Given the description of an element on the screen output the (x, y) to click on. 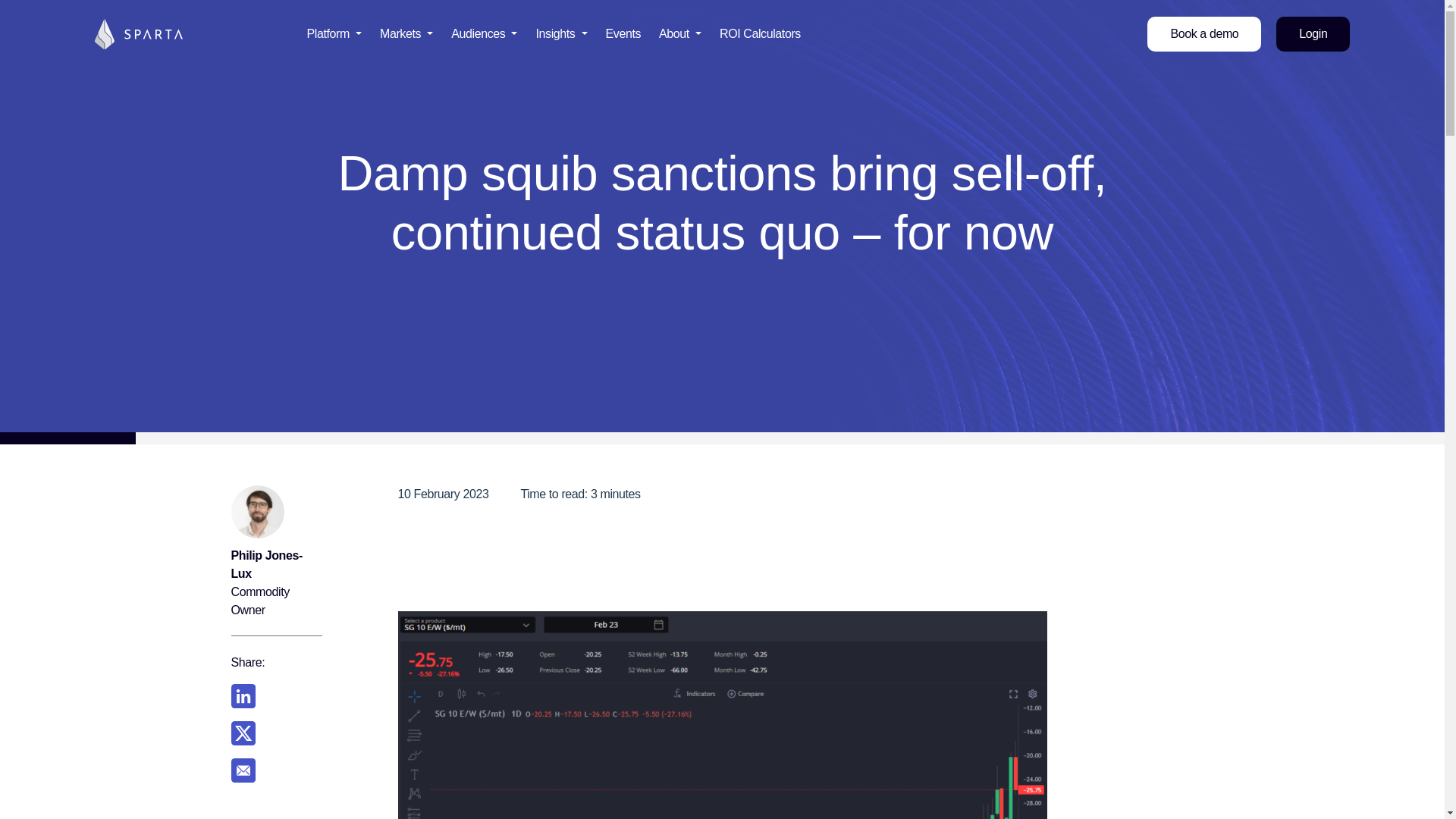
Back to homepage (138, 32)
About (680, 33)
Sparta Logo (138, 33)
Markets (406, 33)
Audiences (483, 33)
Login (1312, 33)
ROI Calculators (759, 33)
Book a demo (1203, 33)
Platform (333, 33)
Events (623, 33)
